Given the description of an element on the screen output the (x, y) to click on. 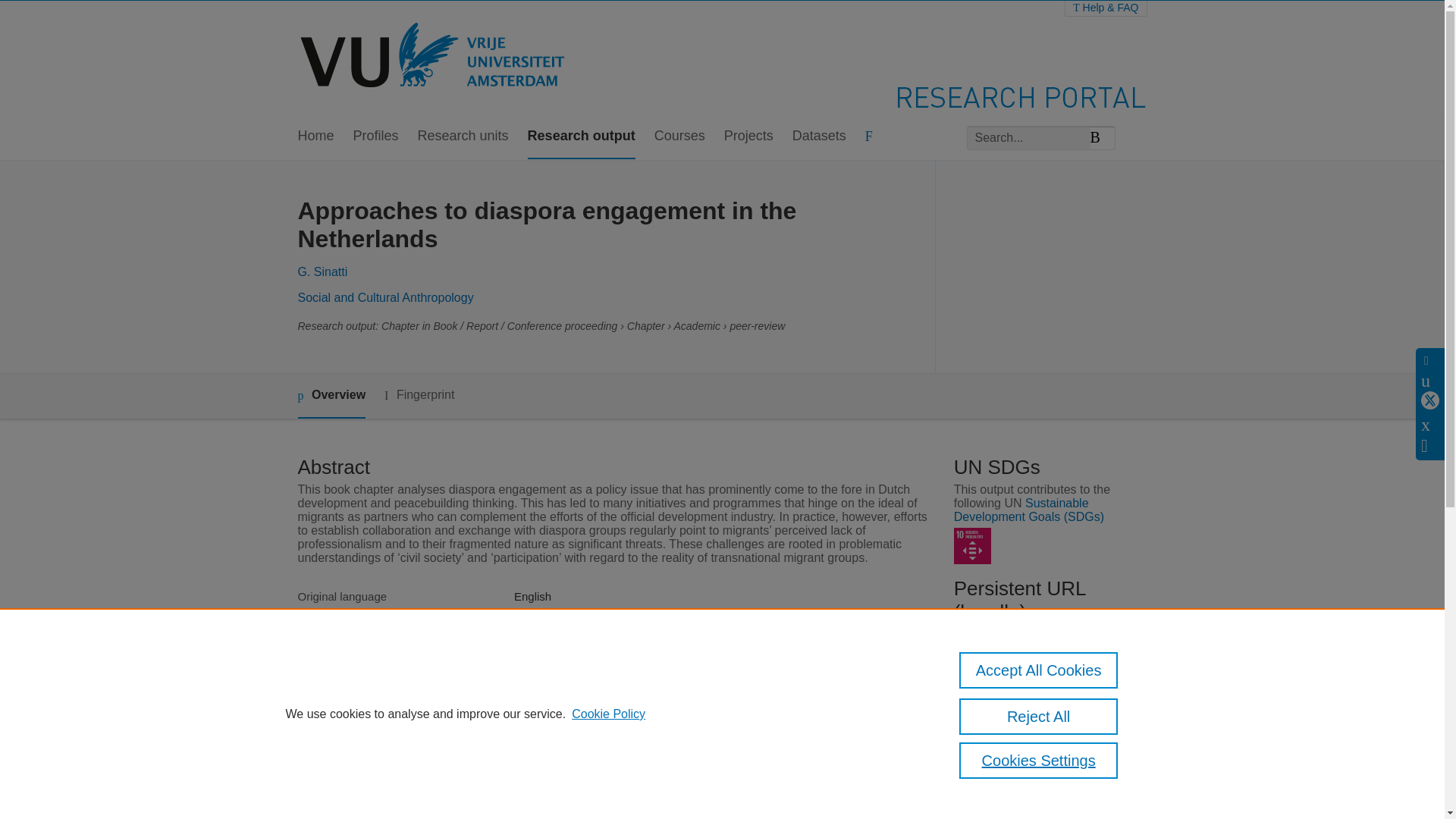
Overview (331, 395)
Social and Cultural Anthropology (385, 297)
G. Sinatti (322, 271)
Copy link address (1016, 634)
SDG 10 - Reduced Inequalities (972, 546)
Datasets (818, 136)
Home (315, 136)
Zed Books (541, 666)
Profiles (375, 136)
Research units (462, 136)
Projects (748, 136)
Research output (580, 136)
Fingerprint (419, 394)
Vrije Universiteit Amsterdam Home (433, 57)
